Given the description of an element on the screen output the (x, y) to click on. 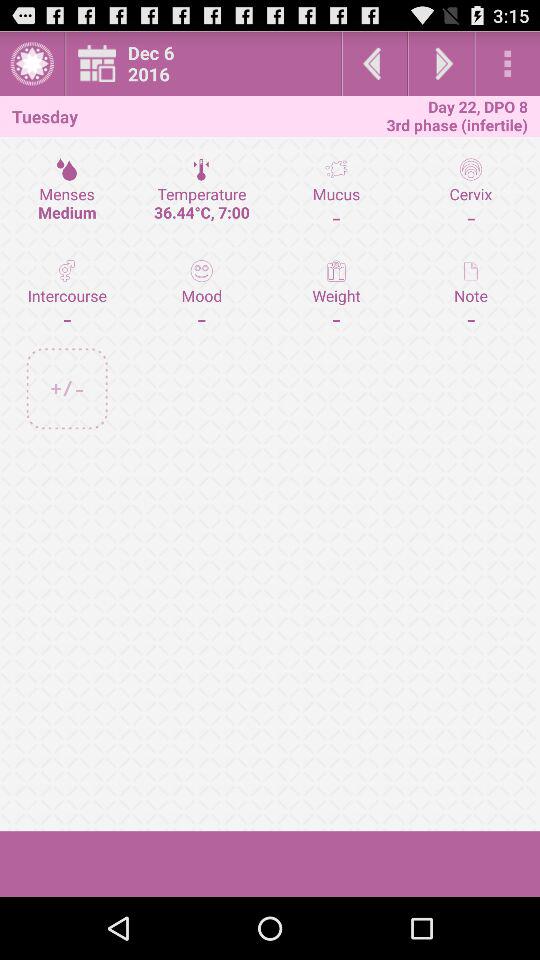
click temperature 36 44 item (201, 193)
